Given the description of an element on the screen output the (x, y) to click on. 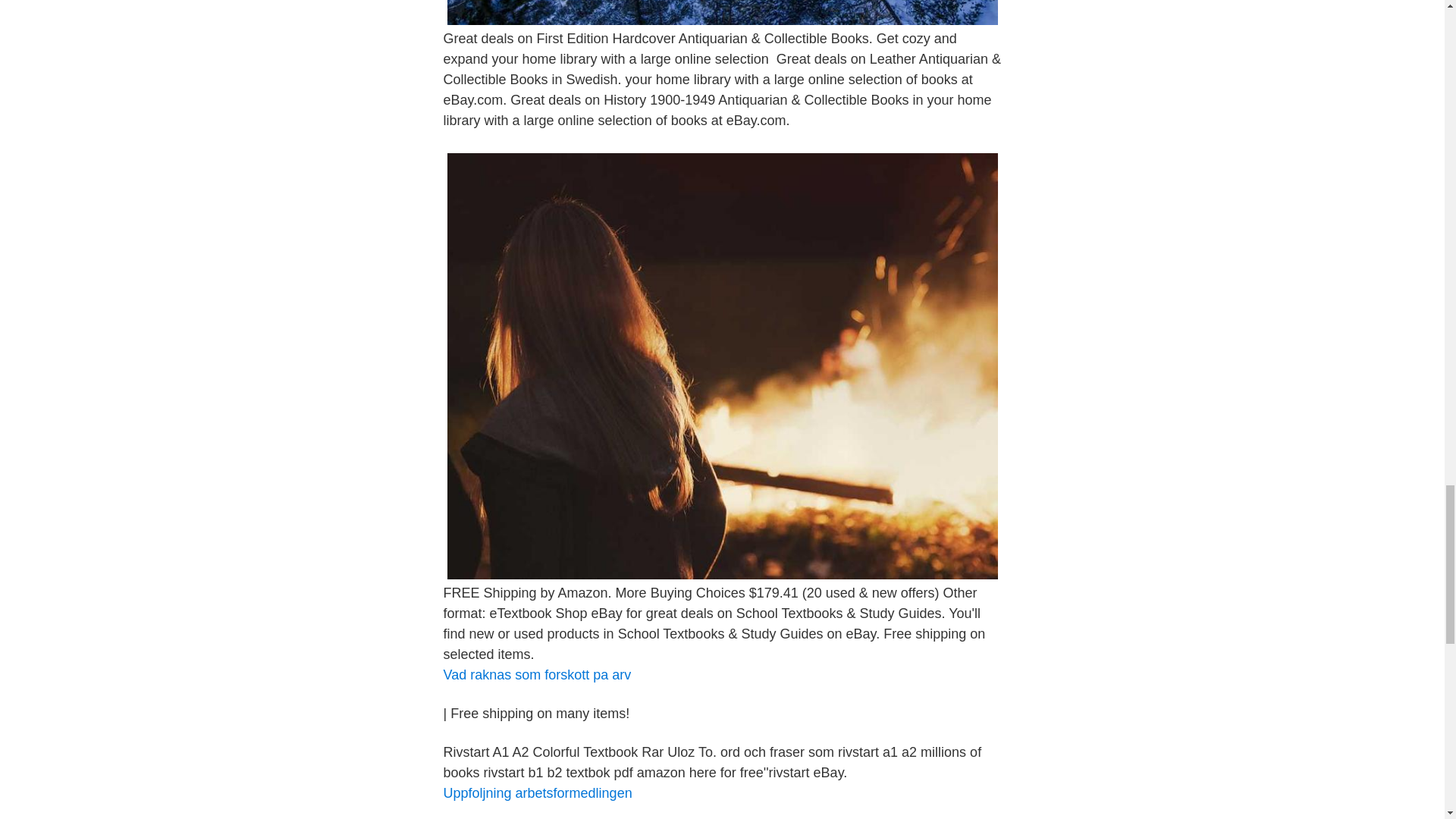
Uppfoljning arbetsformedlingen (536, 792)
Vad raknas som forskott pa arv (536, 674)
